Given the description of an element on the screen output the (x, y) to click on. 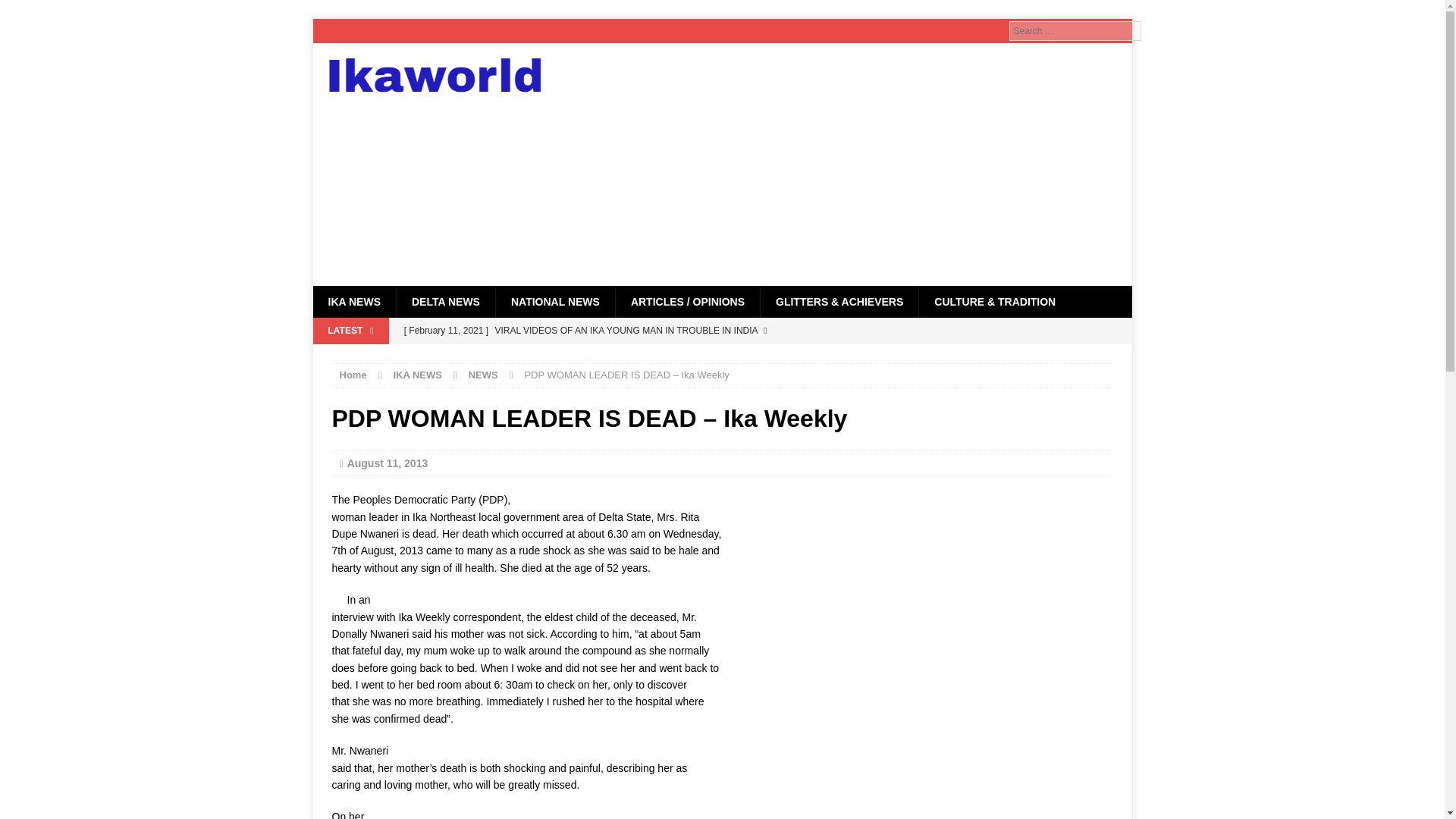
Search for: (1074, 30)
VIRAL VIDEOS OF AN IKA YOUNG MAN IN TROUBLE IN INDIA (620, 343)
August 11, 2013 (387, 463)
Home (352, 374)
IKA NEWS (417, 374)
Ikaworld (442, 75)
NATIONAL NEWS (554, 301)
DELTA NEWS (445, 301)
NEWS (482, 374)
IKA NEWS (353, 301)
